Given the description of an element on the screen output the (x, y) to click on. 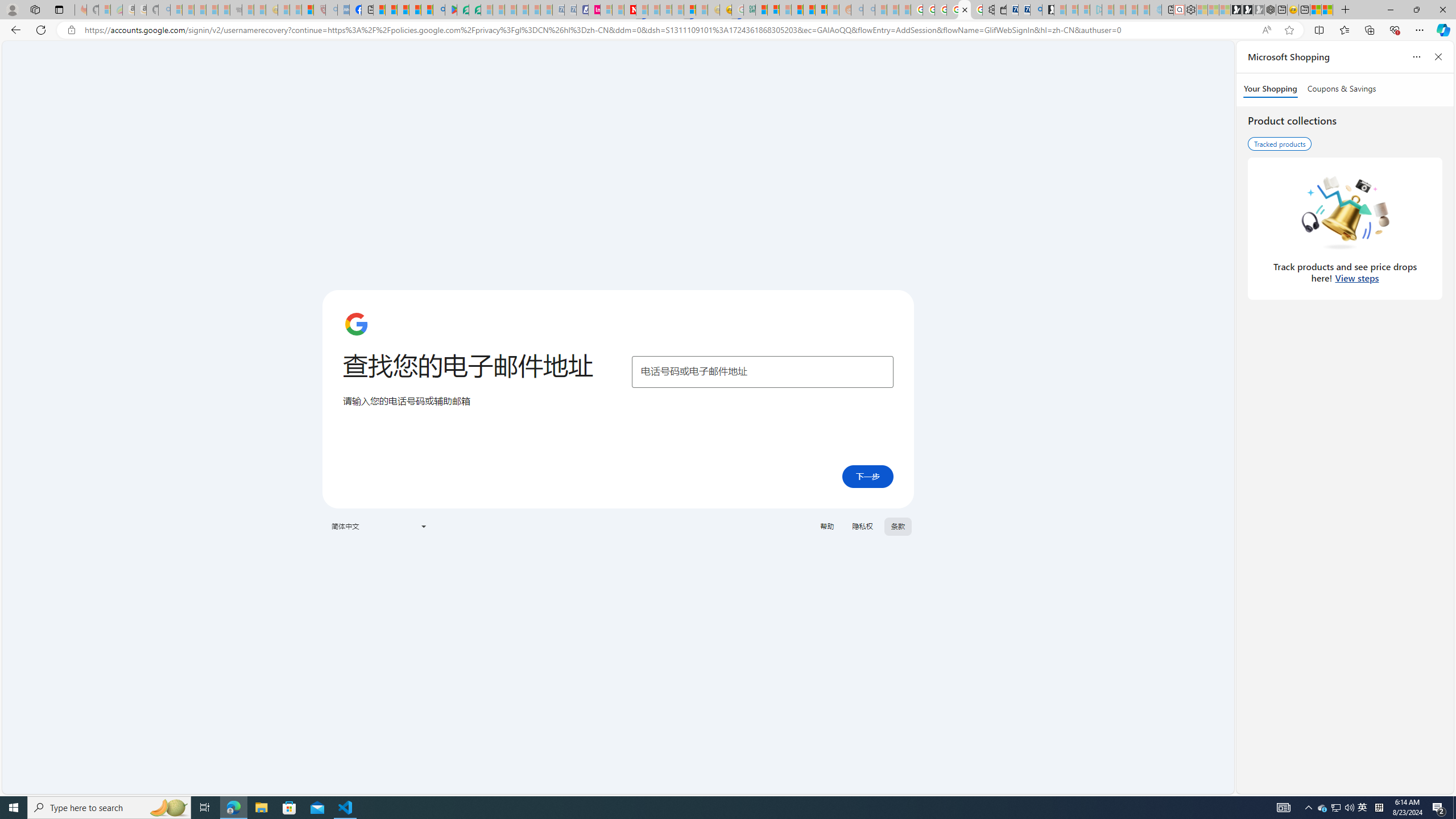
Play Free Online Games | Games from Microsoft Start (1235, 9)
New Report Confirms 2023 Was Record Hot | Watch - Sleeping (223, 9)
MSNBC - MSN (761, 9)
Terms of Use Agreement (462, 9)
